Given the description of an element on the screen output the (x, y) to click on. 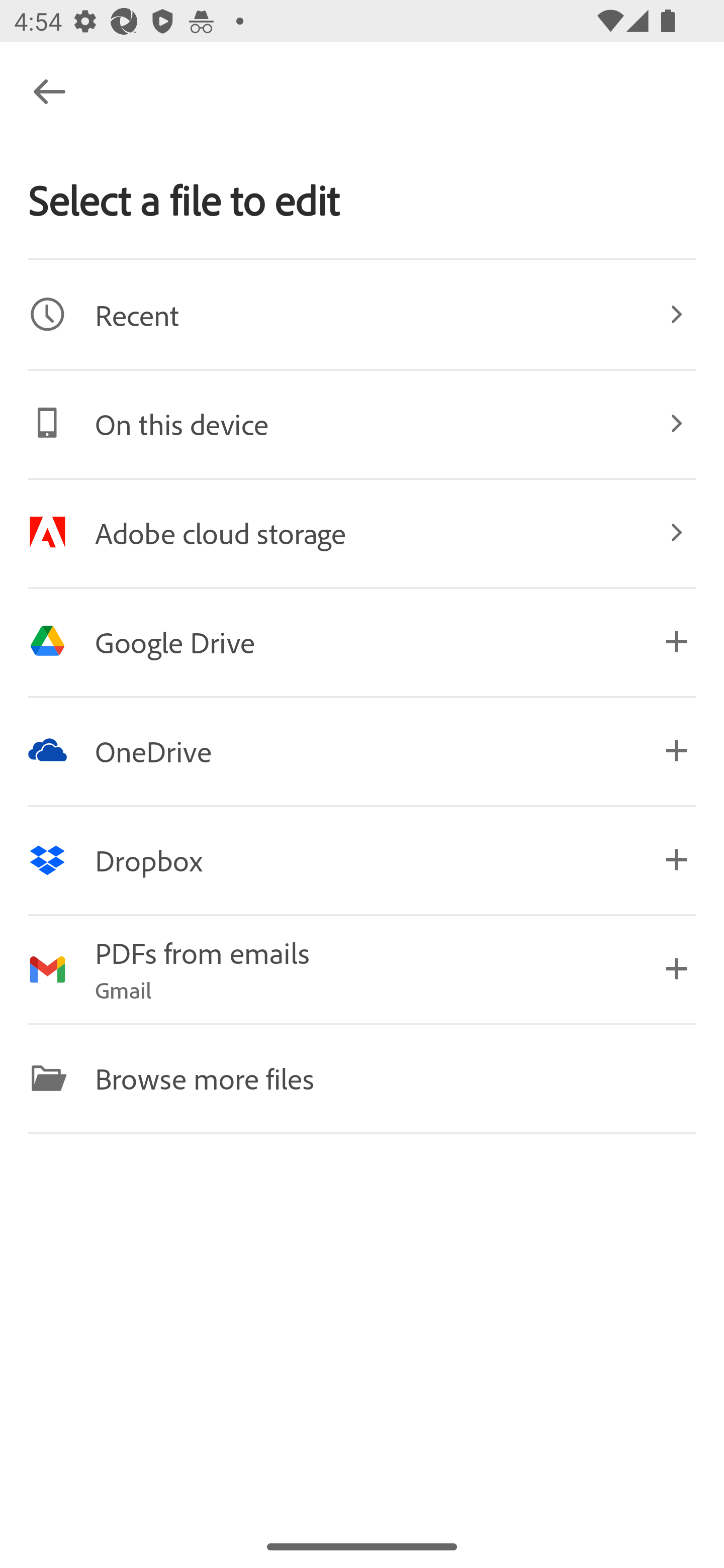
Navigate up (49, 91)
Image Recent (362, 314)
Image On this device (362, 423)
Image Adobe cloud storage (362, 532)
Image Google Drive (362, 641)
Image OneDrive (362, 750)
Image Dropbox (362, 859)
Image PDFs from emails Gmail (362, 968)
Image Browse more files (362, 1077)
